Given the description of an element on the screen output the (x, y) to click on. 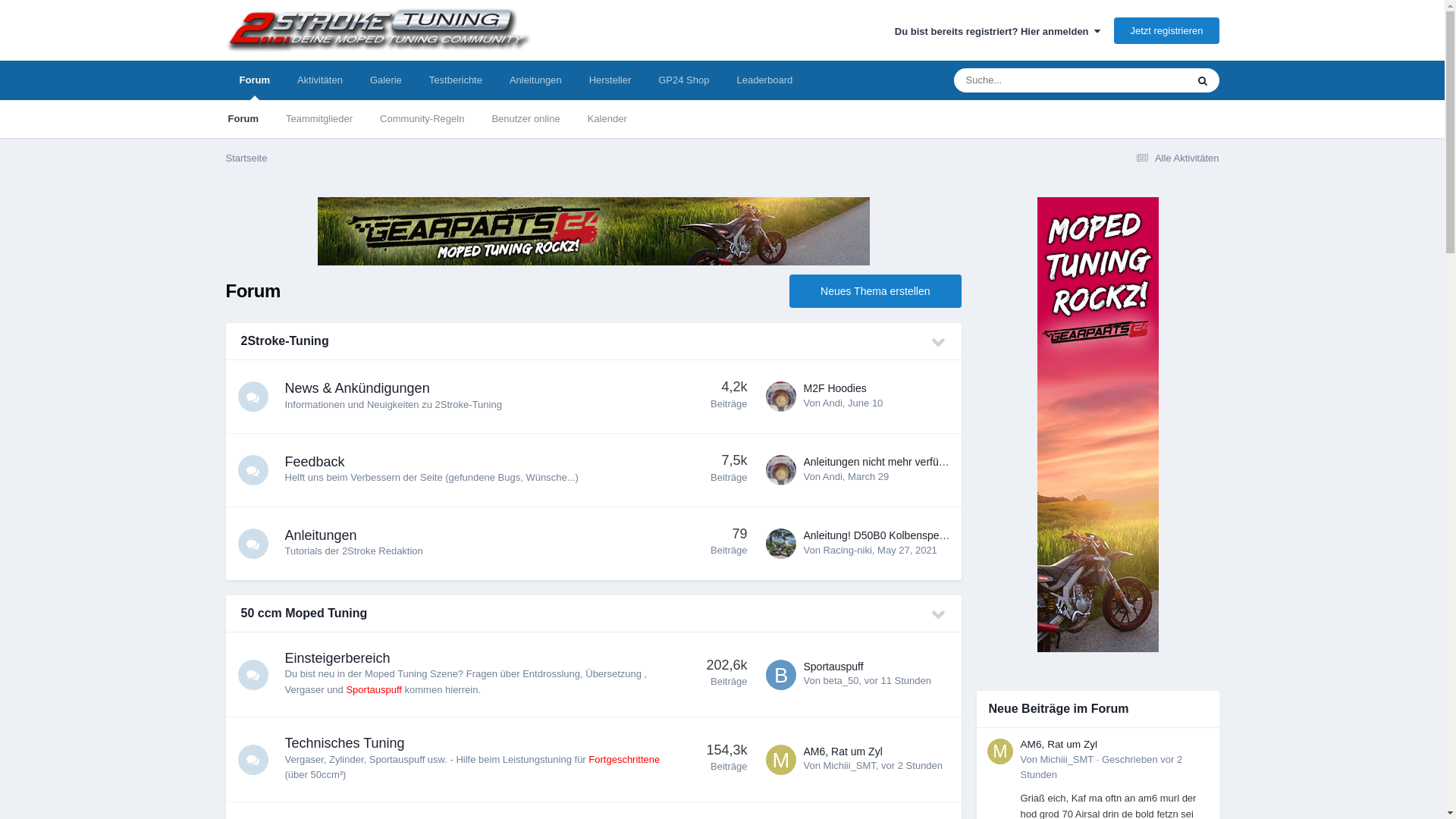
Michiii_SMT Element type: text (1067, 759)
AM6, Rat um Zyl Element type: text (1059, 743)
Andi Element type: text (832, 402)
Anleitungen Element type: text (321, 534)
Andi Element type: text (832, 476)
March 29 Element type: text (867, 476)
Gehe zu Racing-niki's Profil Element type: hover (780, 543)
Gehe zu Michiii_SMT's Profil Element type: hover (780, 759)
Startseite Element type: text (246, 157)
Diese Kategorie ein-/ausklappen Element type: hover (938, 614)
Du bist bereits registriert? Hier anmelden   Element type: text (997, 31)
Forum Element type: text (242, 119)
Jetzt registrieren Element type: text (1165, 29)
GP24 Shop Element type: text (683, 80)
Michiii_SMT Element type: text (849, 765)
M2F Hoodies Element type: text (834, 388)
2Stroke-Tuning Element type: text (285, 340)
Feedback Element type: text (315, 461)
vor 11 Stunden Element type: text (897, 680)
Geschrieben vor 2 Stunden Element type: text (1101, 766)
AM6, Rat um Zyl Element type: text (842, 751)
Forum Element type: text (254, 80)
Testberichte Element type: text (455, 80)
Gehe zu Michiii_SMT's Profil Element type: hover (1000, 751)
vor 2 Stunden Element type: text (911, 765)
June 10 Element type: text (864, 402)
Technisches Tuning Element type: text (344, 742)
Leaderboard Element type: text (764, 80)
beta_50 Element type: text (841, 680)
Diese Kategorie ein-/ausklappen Element type: hover (938, 342)
Racing-niki Element type: text (847, 549)
May 27, 2021 Element type: text (907, 549)
Gehe zu Andi's Profil Element type: hover (780, 470)
50 ccm Moped Tuning Element type: text (304, 612)
Gehe zu Andi's Profil Element type: hover (780, 396)
Community-Regeln Element type: text (421, 119)
Einsteigerbereich Element type: text (337, 657)
Gehe zu beta_50's Profil Element type: hover (780, 674)
Kalender Element type: text (607, 119)
Galerie Element type: text (385, 80)
Teammitglieder Element type: text (319, 119)
Sportauspuff Element type: text (833, 665)
Benutzer online Element type: text (525, 119)
Hersteller Element type: text (610, 80)
Anleitungen Element type: text (535, 80)
Neues Thema erstellen Element type: text (874, 290)
